Given the description of an element on the screen output the (x, y) to click on. 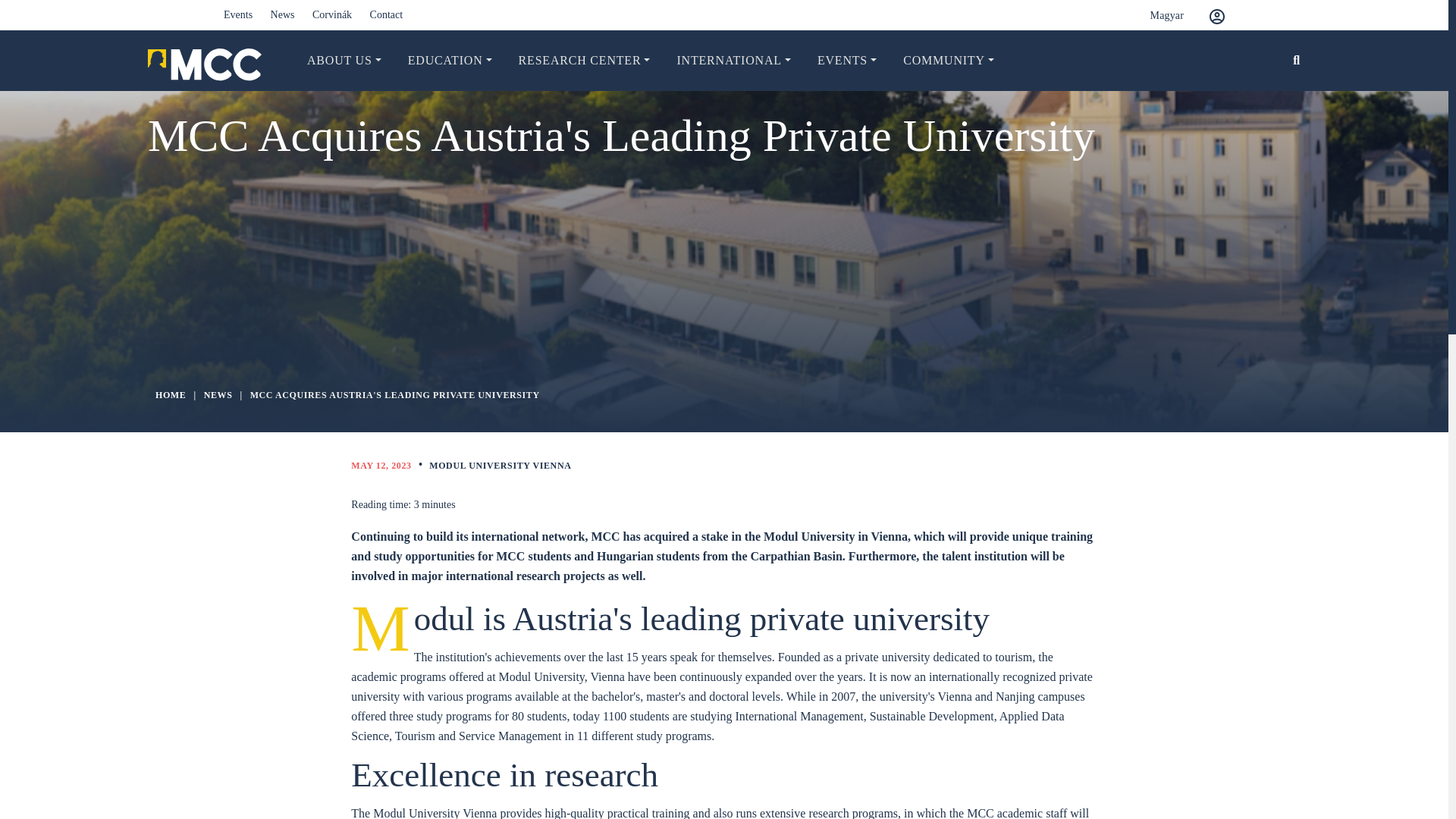
Events (237, 14)
Contact (386, 14)
Magyar (1154, 15)
News (282, 14)
